Given the description of an element on the screen output the (x, y) to click on. 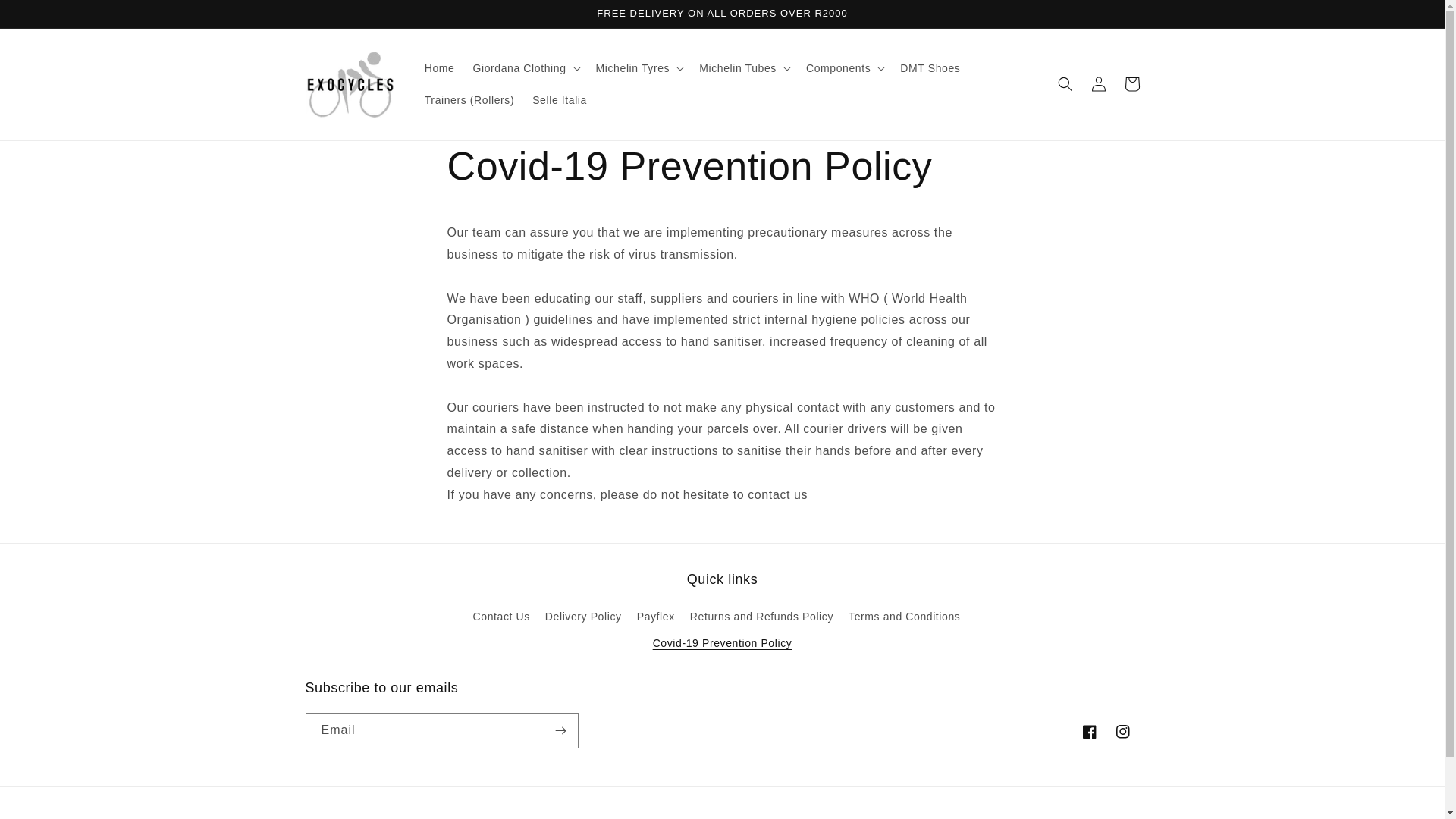
Skip to content (45, 17)
Home (439, 68)
